Given the description of an element on the screen output the (x, y) to click on. 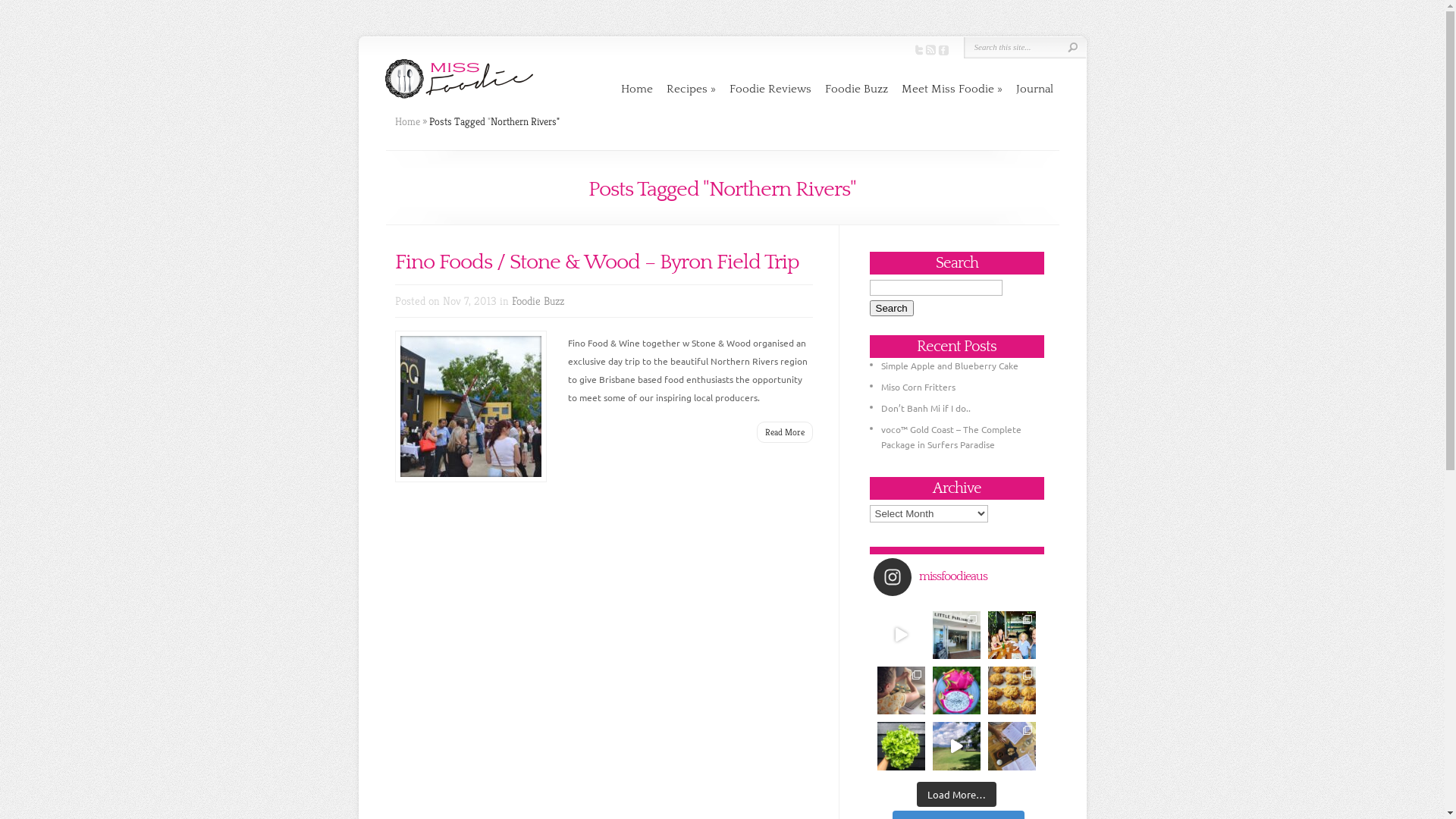
Meet Miss Foodie Element type: text (950, 89)
Home Element type: text (636, 89)
Read More Element type: text (784, 431)
Simple Apple and Blueberry Cake Element type: text (949, 365)
missfoodieaus Element type: text (960, 577)
Journal Element type: text (1034, 89)
Foodie Buzz Element type: text (856, 89)
Foodie Buzz Element type: text (537, 300)
Miso Corn Fritters Element type: text (918, 386)
Recipes Element type: text (690, 89)
Home Element type: text (406, 121)
Search Element type: text (891, 308)
Foodie Reviews Element type: text (770, 89)
